Given the description of an element on the screen output the (x, y) to click on. 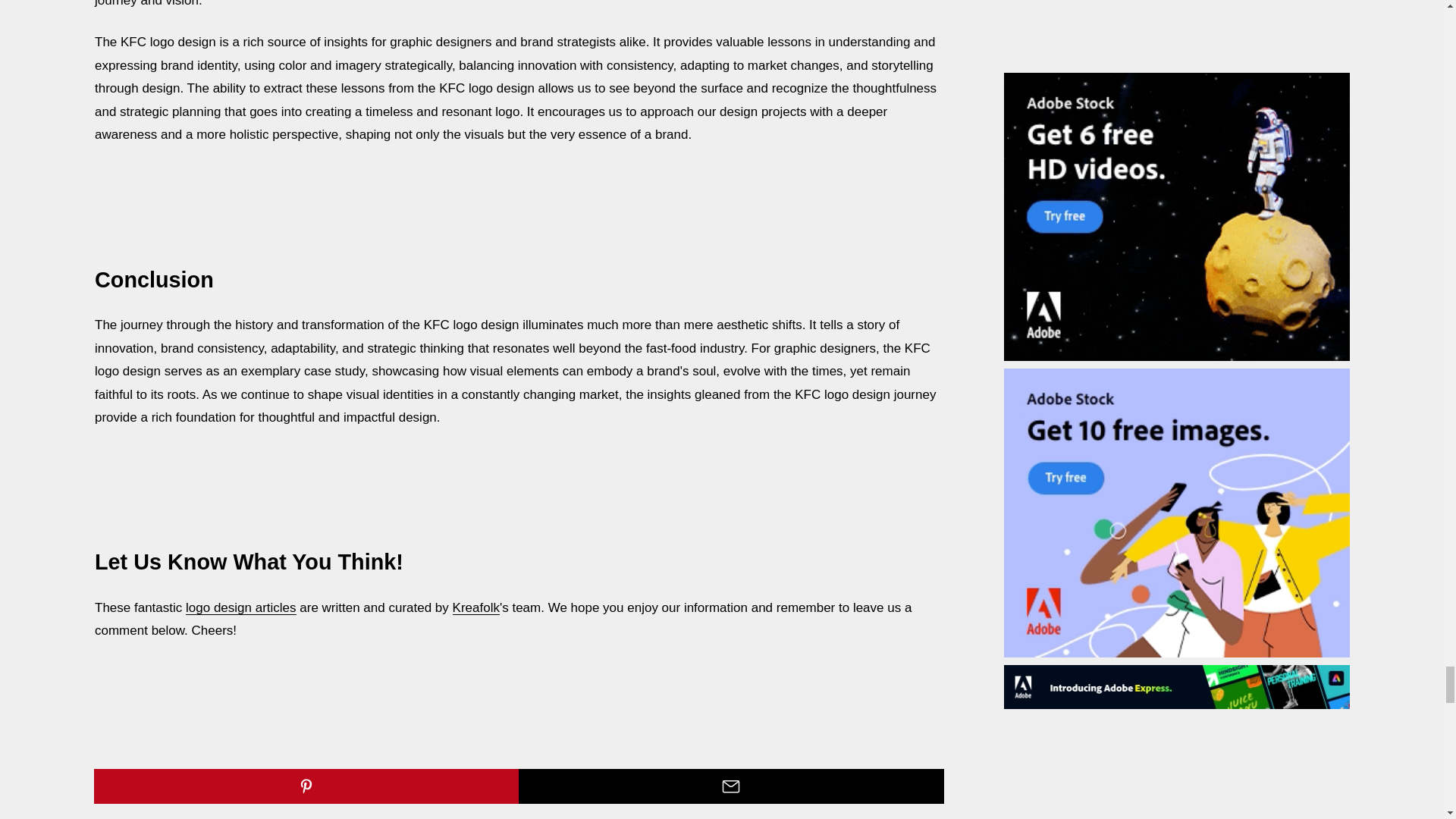
logo design articles (241, 607)
Kreafolk (475, 607)
logo design articles (241, 607)
